Given the description of an element on the screen output the (x, y) to click on. 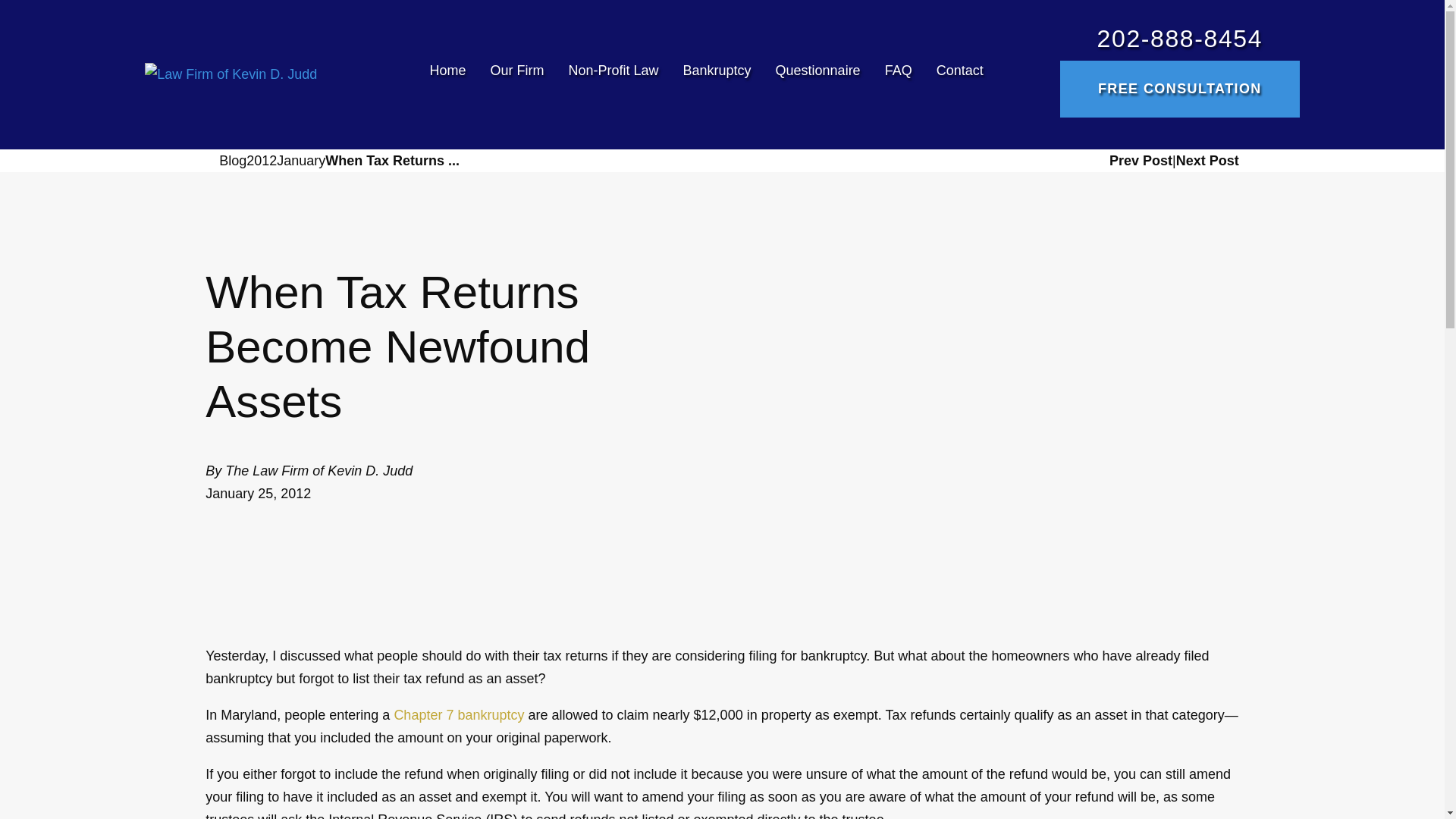
FAQ (898, 74)
Questionnaire (817, 74)
FREE CONSULTATION (1179, 88)
Link to information about Chapter 7 bankruptcy process (458, 714)
202-888-8454 (1179, 38)
Contact (954, 74)
Open the accessibility options menu (20, 798)
2012 (261, 160)
January (300, 160)
Home (453, 74)
Blog (232, 160)
Go Home (212, 160)
Law Firm of Kevin D. Judd (230, 74)
Non-Profit Law (612, 74)
Chapter 7 bankruptcy (458, 714)
